Given the description of an element on the screen output the (x, y) to click on. 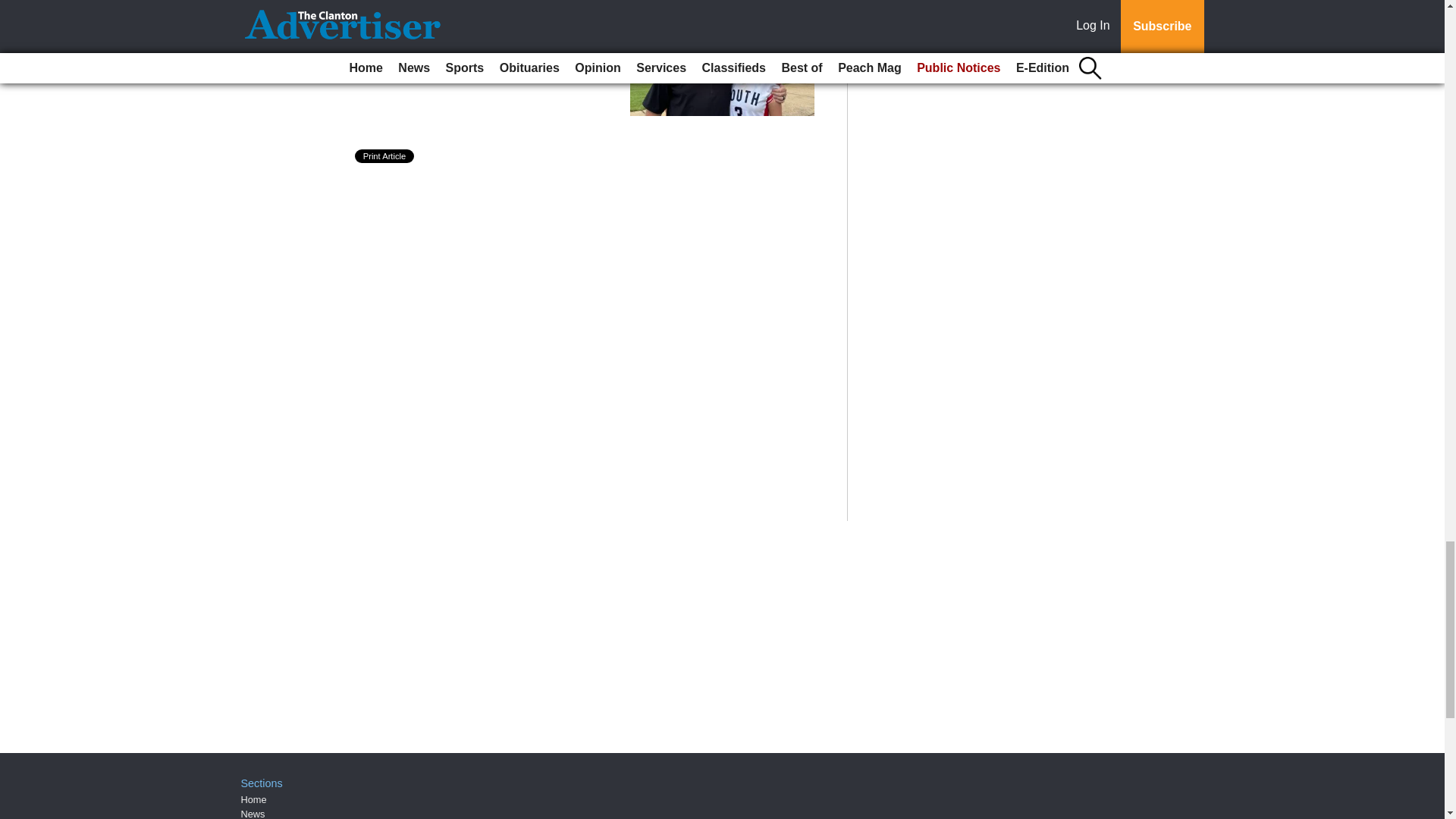
Primm collects three hits in AHSAA North-South All-Star Game (501, 32)
Print Article (384, 155)
Primm collects three hits in AHSAA North-South All-Star Game (501, 32)
